Given the description of an element on the screen output the (x, y) to click on. 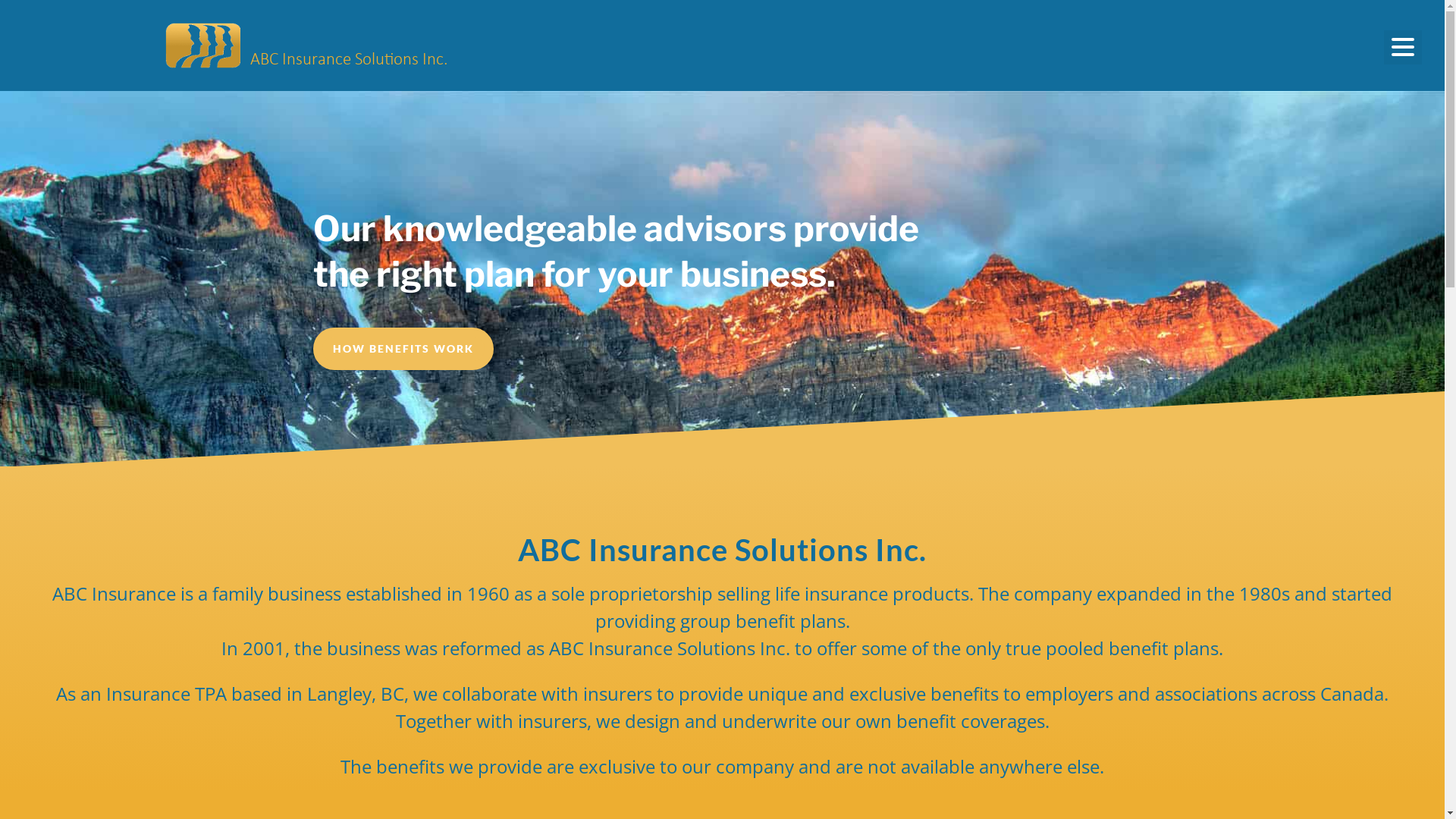
logo Element type: hover (203, 45)
HOW BENEFITS WORK Element type: text (402, 348)
